Given the description of an element on the screen output the (x, y) to click on. 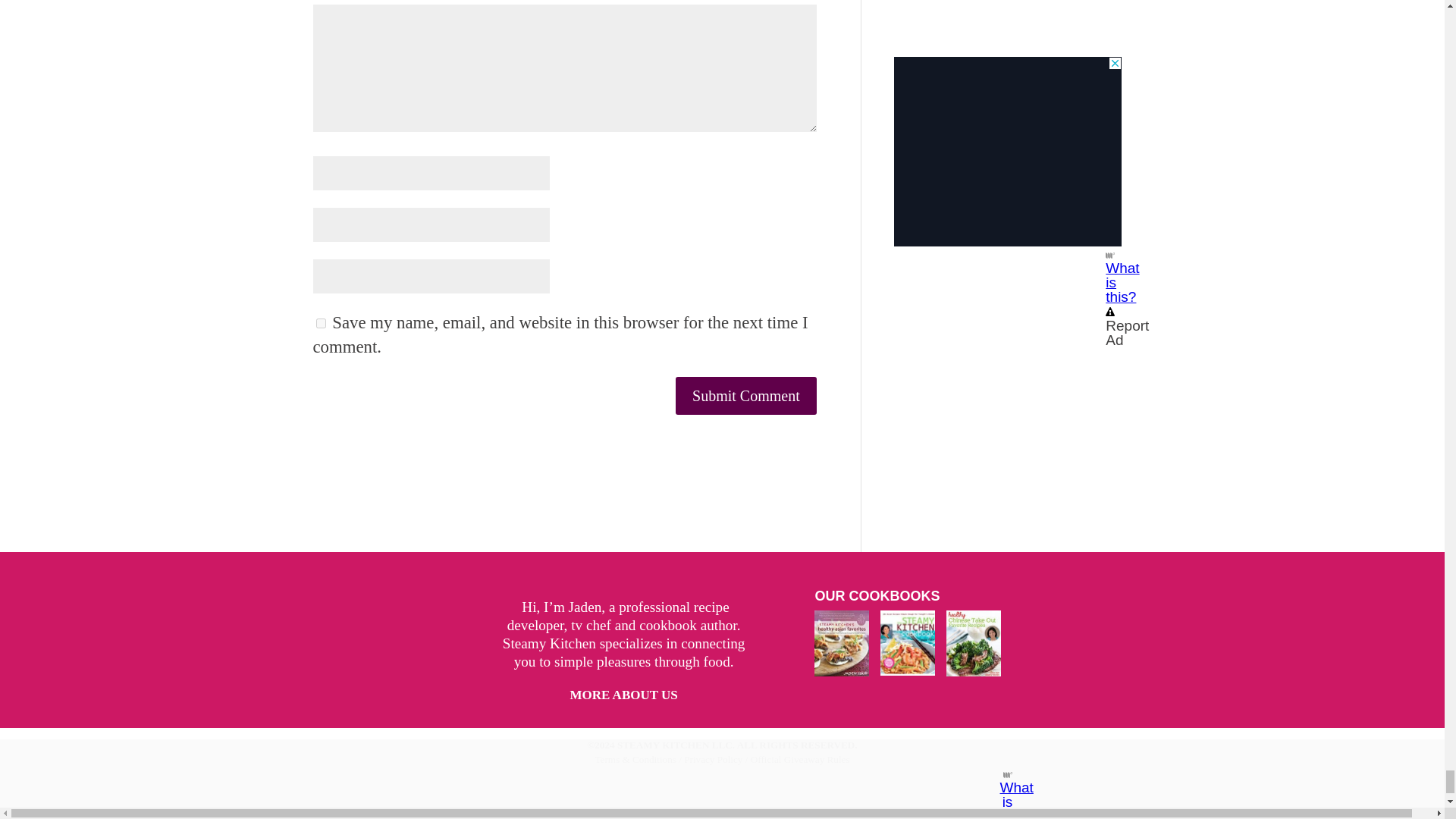
Jaden-Home-Page-sqx200 (422, 638)
yes (319, 323)
Submit Comment (745, 395)
